Given the description of an element on the screen output the (x, y) to click on. 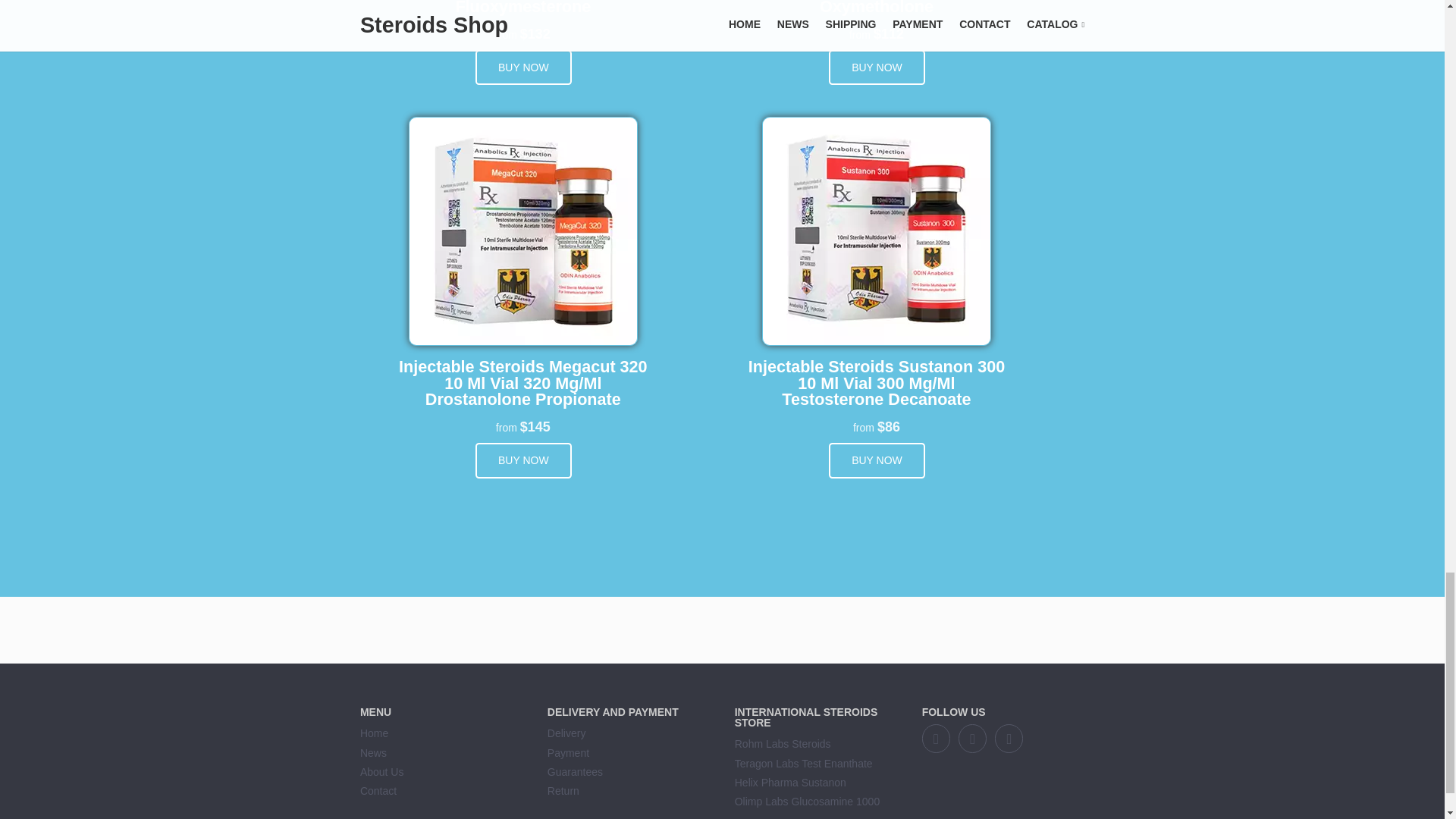
BUY NOW (524, 460)
BUY NOW (524, 67)
BUY NOW (876, 67)
BUY NOW (876, 460)
